Given the description of an element on the screen output the (x, y) to click on. 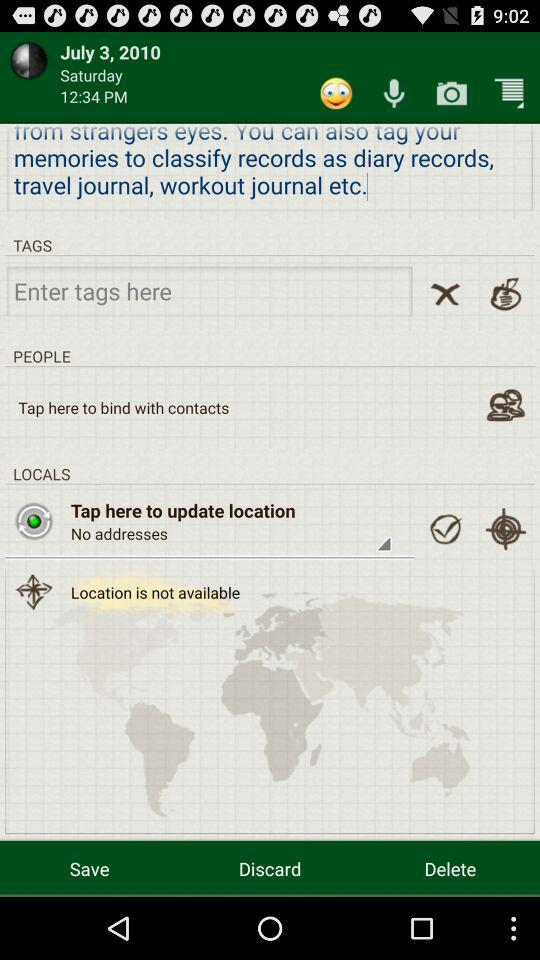
add photo (451, 92)
